Given the description of an element on the screen output the (x, y) to click on. 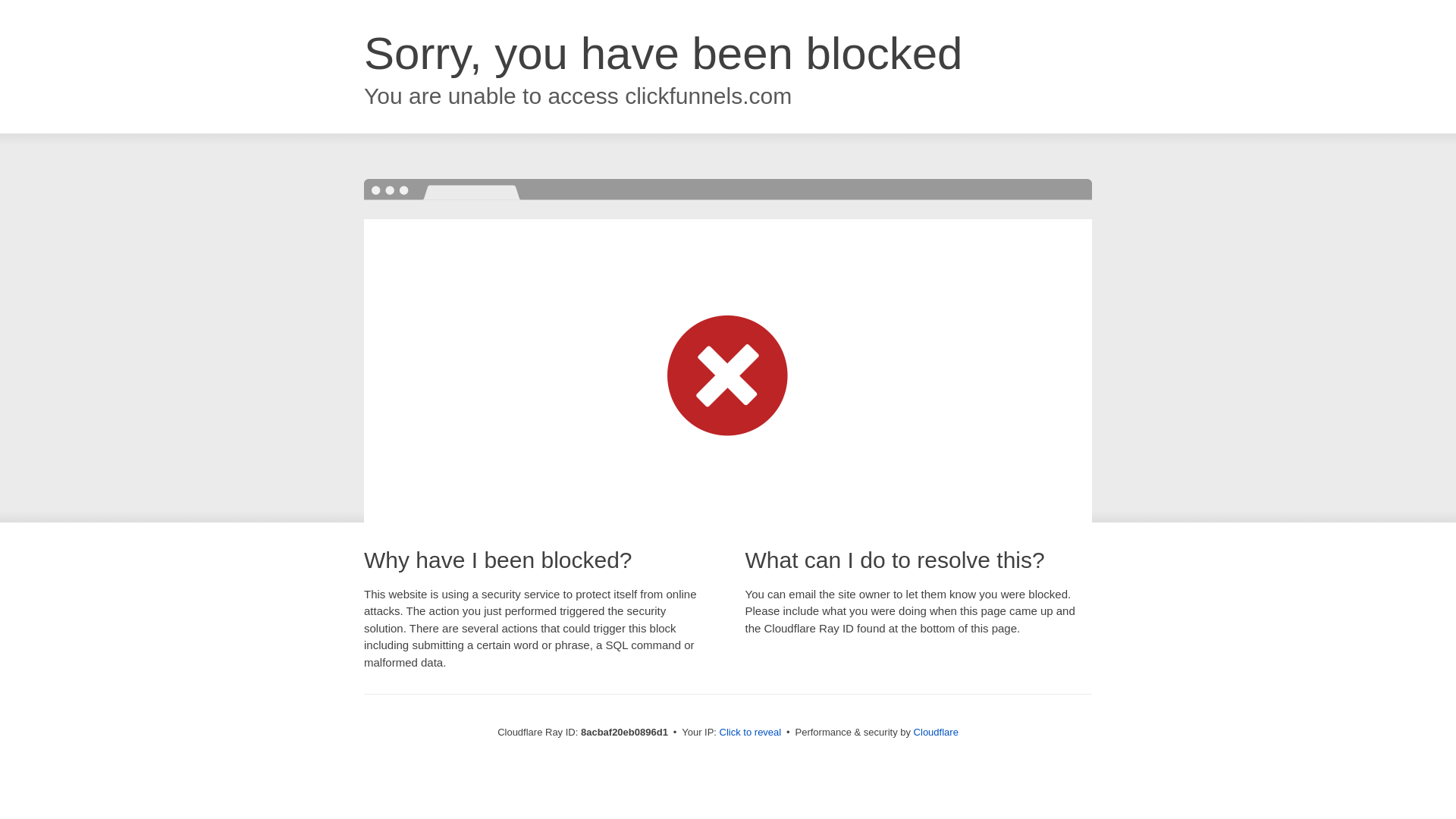
Cloudflare (936, 731)
Click to reveal (750, 732)
